Given the description of an element on the screen output the (x, y) to click on. 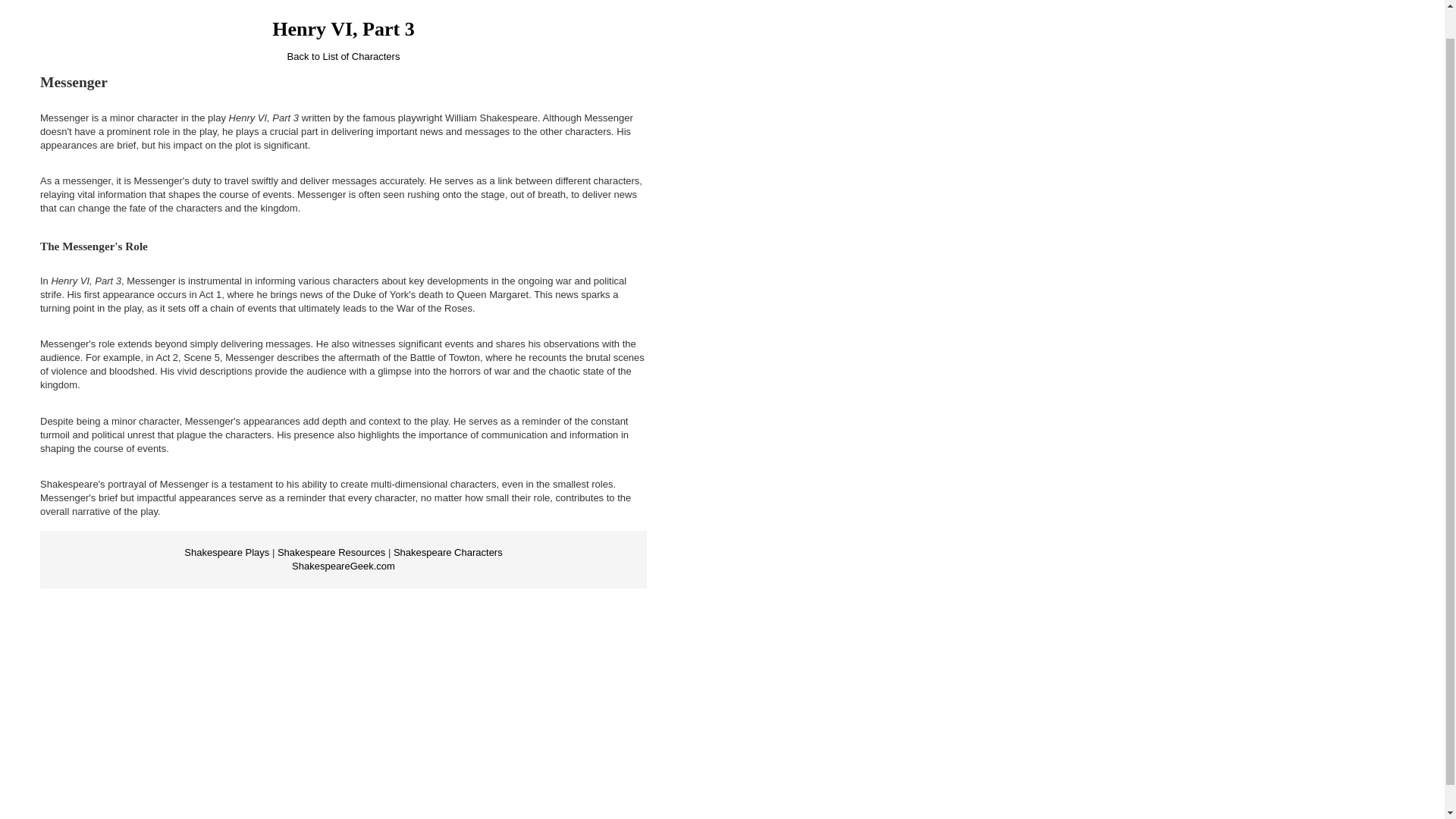
Shakespeare Plays (226, 552)
Henry VI, Part 3 (342, 29)
Shakespeare Resources (331, 552)
ShakespeareGeek.com (343, 565)
Back to List of Characters (343, 56)
Shakespeare Characters (447, 552)
